Given the description of an element on the screen output the (x, y) to click on. 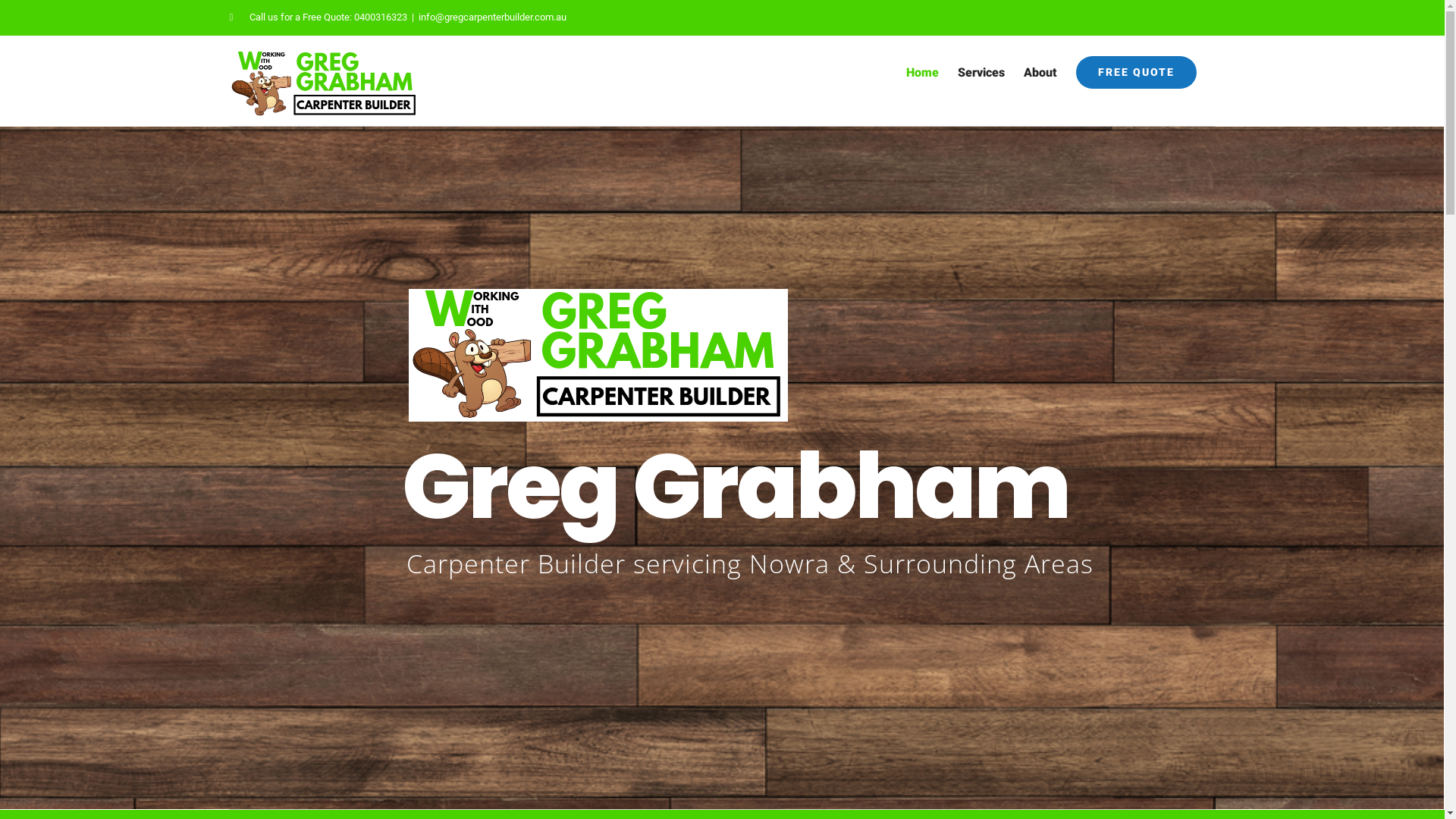
FREE QUOTE Element type: text (1135, 72)
Call us for a Free Quote: 0400316323 Element type: text (317, 16)
Home Element type: text (921, 72)
About Element type: text (1040, 72)
Services Element type: text (980, 72)
info@gregcarpenterbuilder.com.au Element type: text (492, 16)
